Given the description of an element on the screen output the (x, y) to click on. 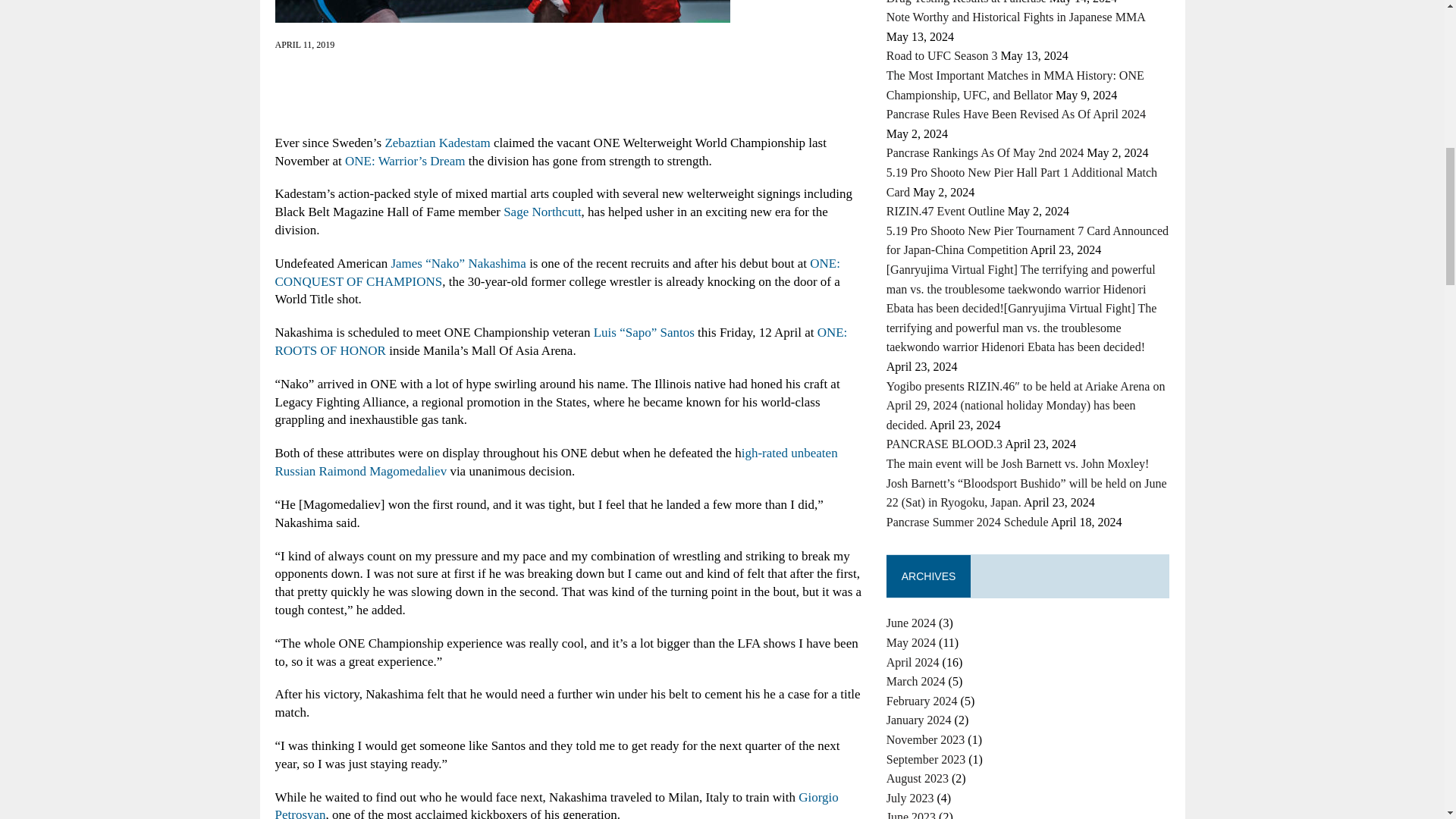
ONE: CONQUEST OF CHAMPIONS (557, 272)
Giorgio Petrosyan (556, 804)
ONE: ROOTS OF HONOR (561, 341)
igh-rated unbeaten Russian Raimond Magomedaliev (556, 461)
Sage Northcutt (541, 211)
Zebaztian Kadestam (436, 142)
